Given the description of an element on the screen output the (x, y) to click on. 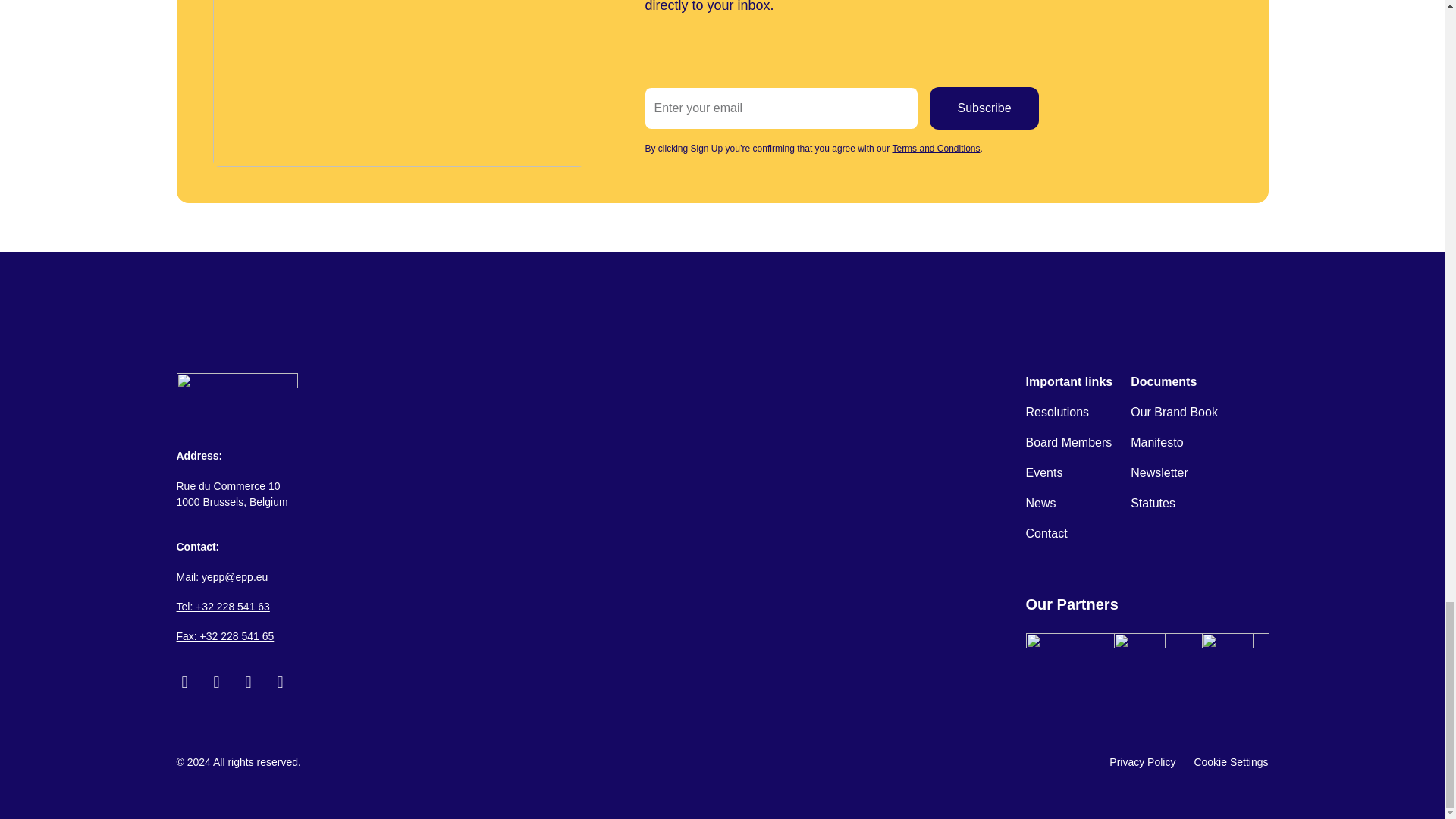
Events (1043, 473)
Board Members (1068, 443)
News (1040, 503)
Contact (1046, 533)
Resolutions (1057, 412)
Subscribe (984, 107)
Terms and Conditions (935, 148)
